Given the description of an element on the screen output the (x, y) to click on. 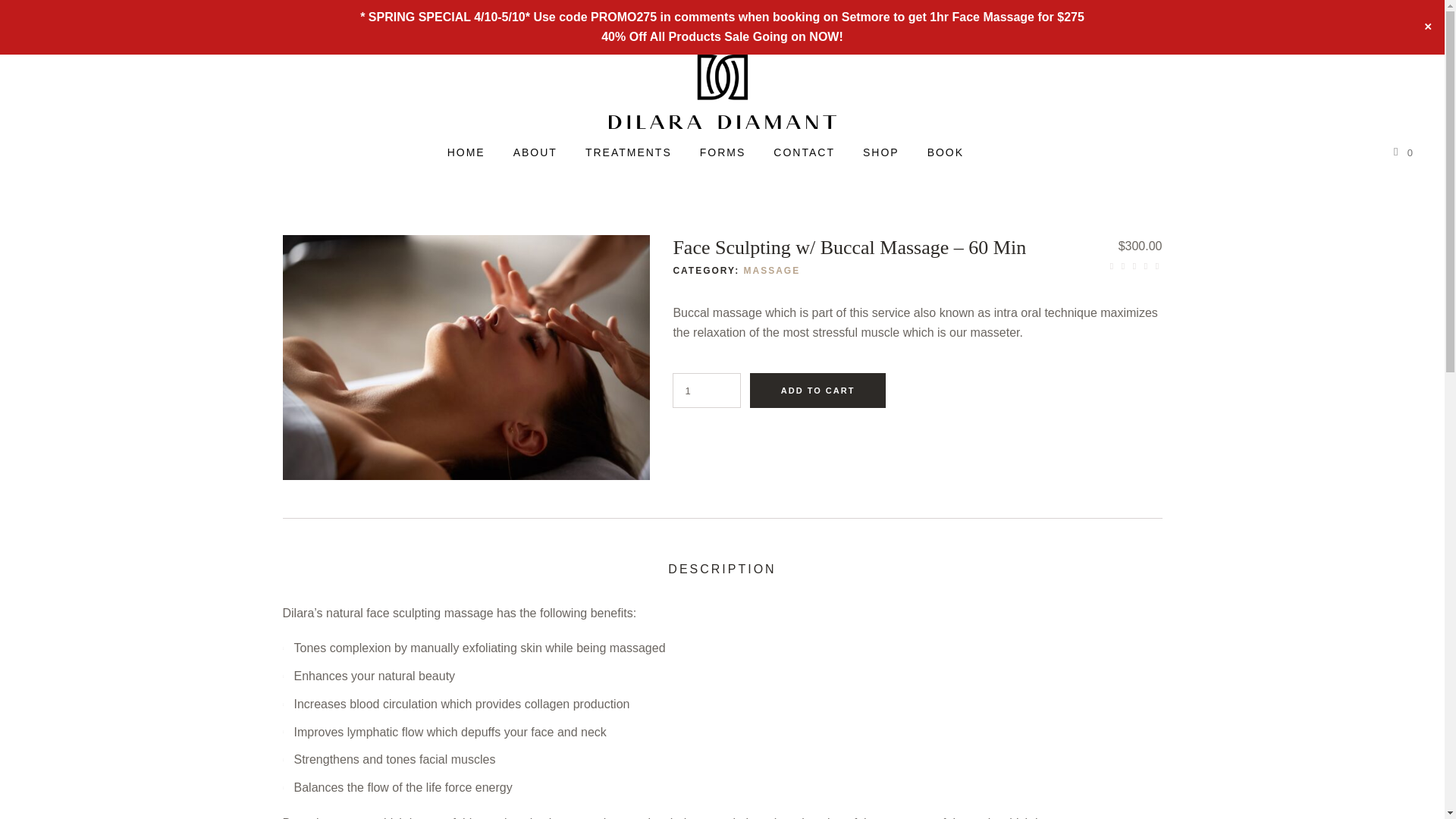
ADD TO CART (817, 390)
BOOK (945, 151)
SHOP (880, 151)
Rated 0 out of 5 (1133, 266)
face massage (465, 357)
CONTACT (804, 151)
1 (706, 390)
TREATMENTS (628, 151)
MASSAGE (770, 270)
ABOUT (534, 151)
HOME (466, 151)
DESCRIPTION (722, 569)
FORMS (722, 151)
0 (1401, 152)
